Given the description of an element on the screen output the (x, y) to click on. 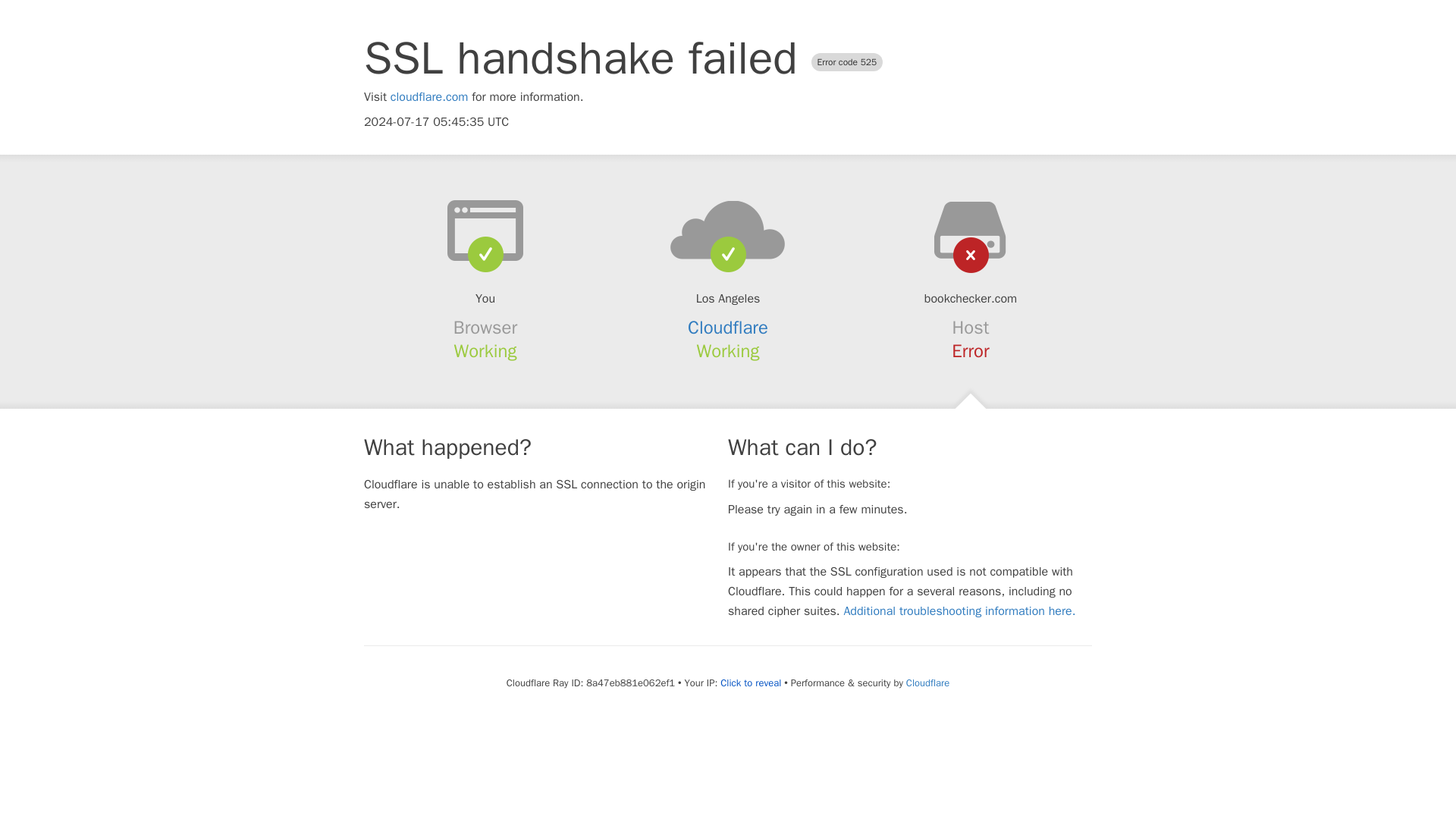
Click to reveal (750, 683)
cloudflare.com (429, 96)
Cloudflare (927, 682)
Cloudflare (727, 327)
Additional troubleshooting information here. (959, 611)
